Given the description of an element on the screen output the (x, y) to click on. 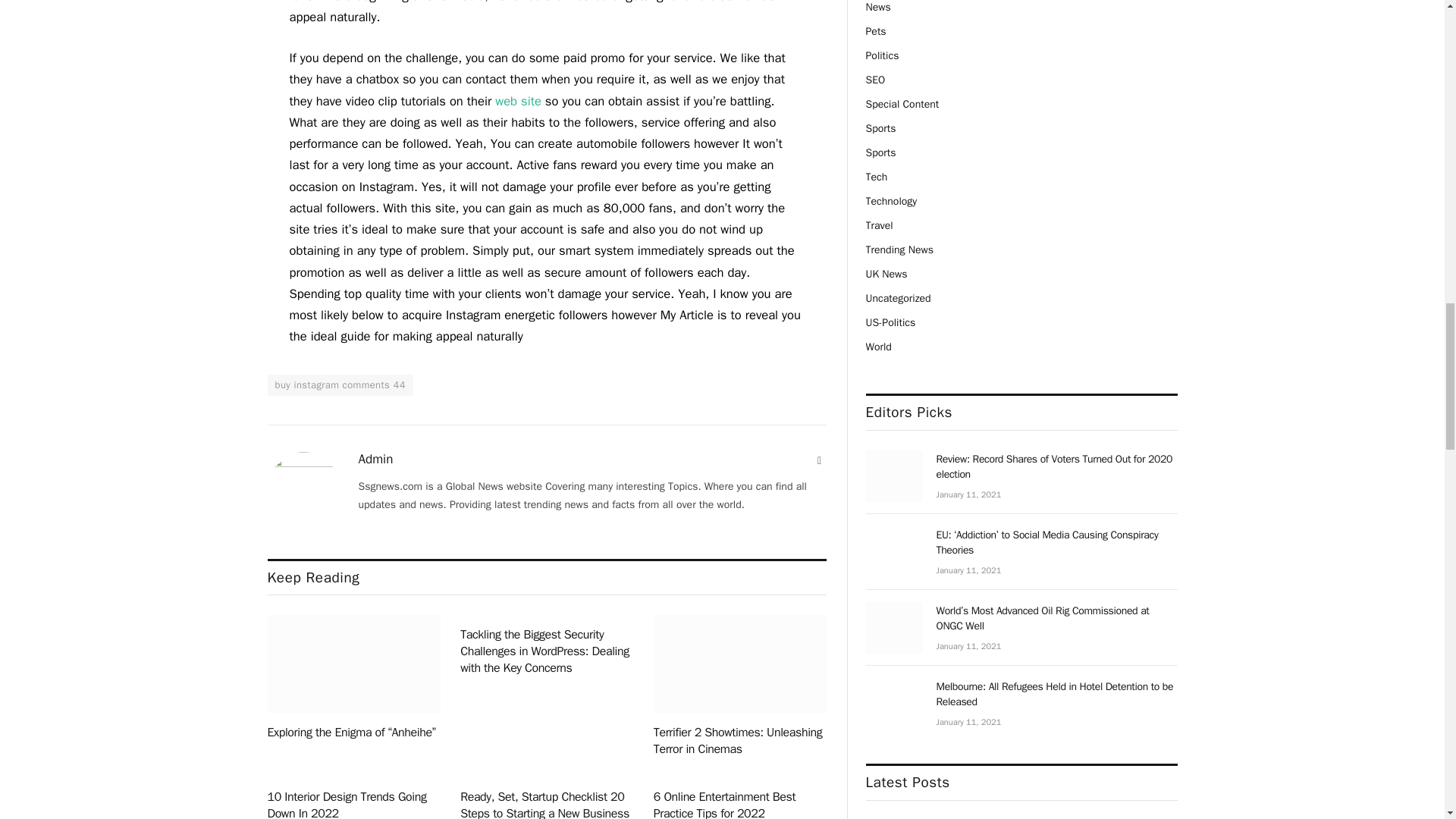
Website (818, 460)
Posts by Admin (375, 459)
Terrifier 2 Showtimes: Unleashing Terror in Cinemas (740, 663)
Review: Record Shares of Voters Turned Out for 2020 election (894, 476)
